Given the description of an element on the screen output the (x, y) to click on. 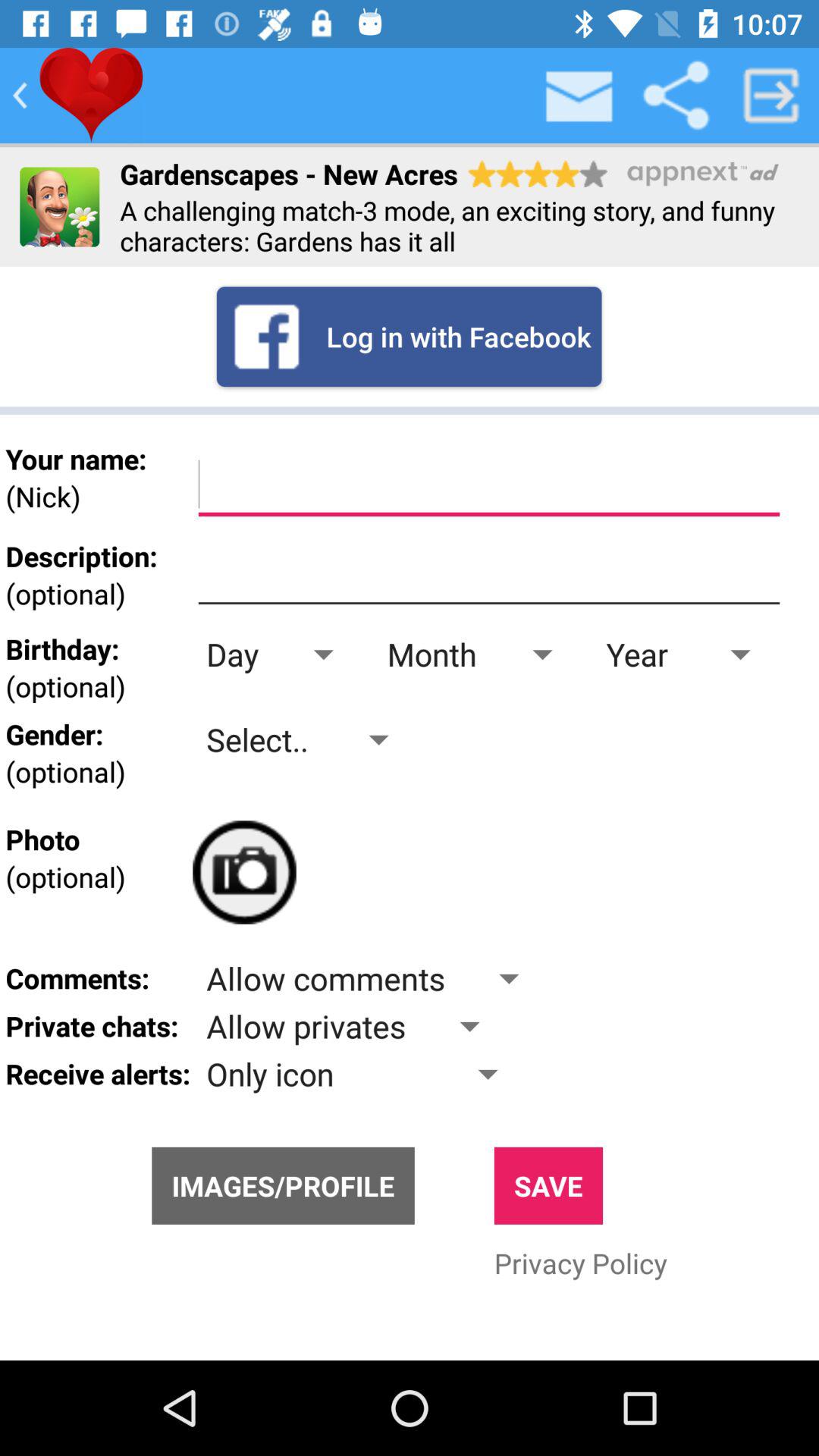
add a photo (244, 872)
